Given the description of an element on the screen output the (x, y) to click on. 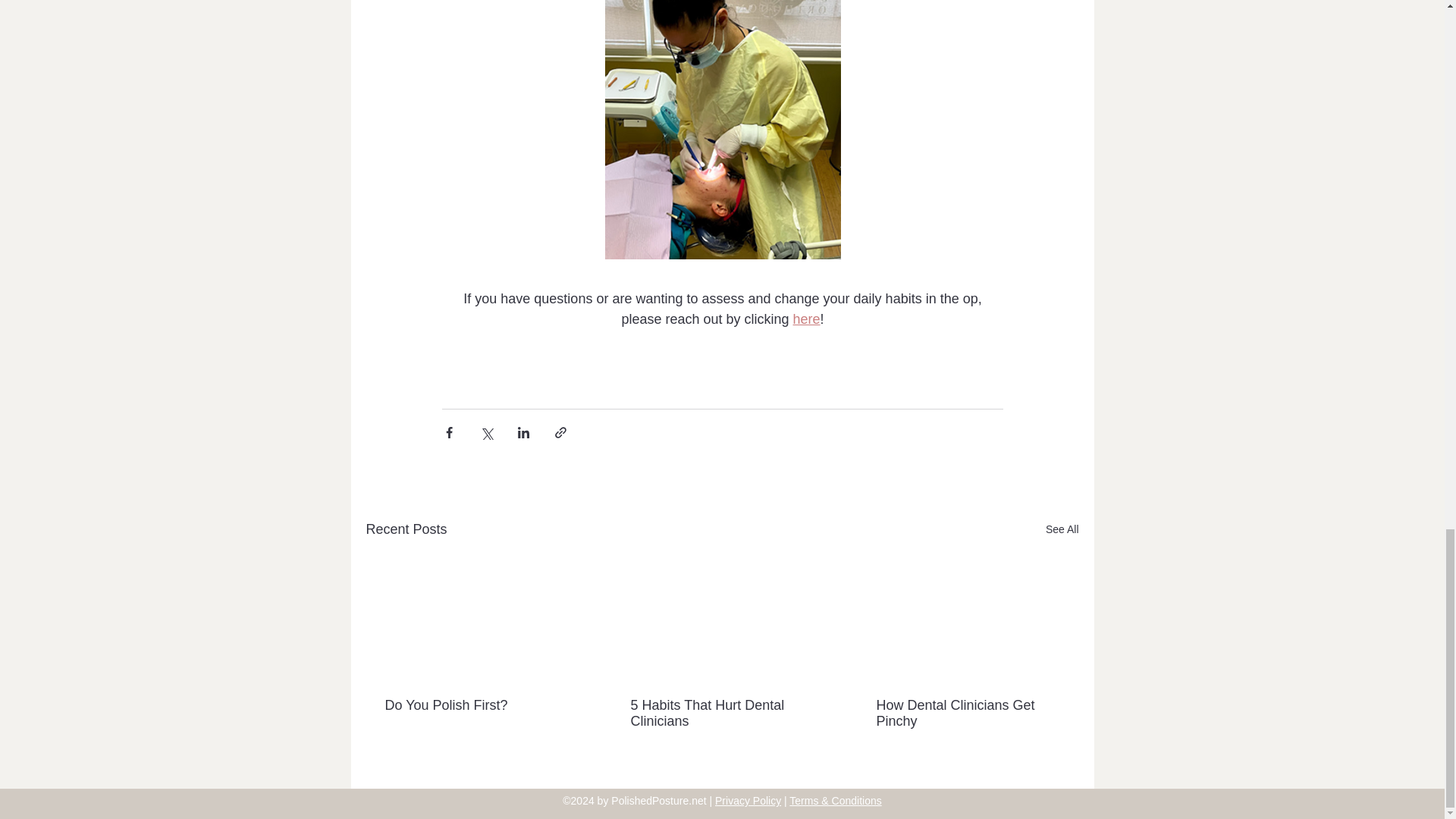
See All (1061, 529)
5 Habits That Hurt Dental Clinicians (721, 713)
here (805, 319)
Do You Polish First? (476, 705)
